Given the description of an element on the screen output the (x, y) to click on. 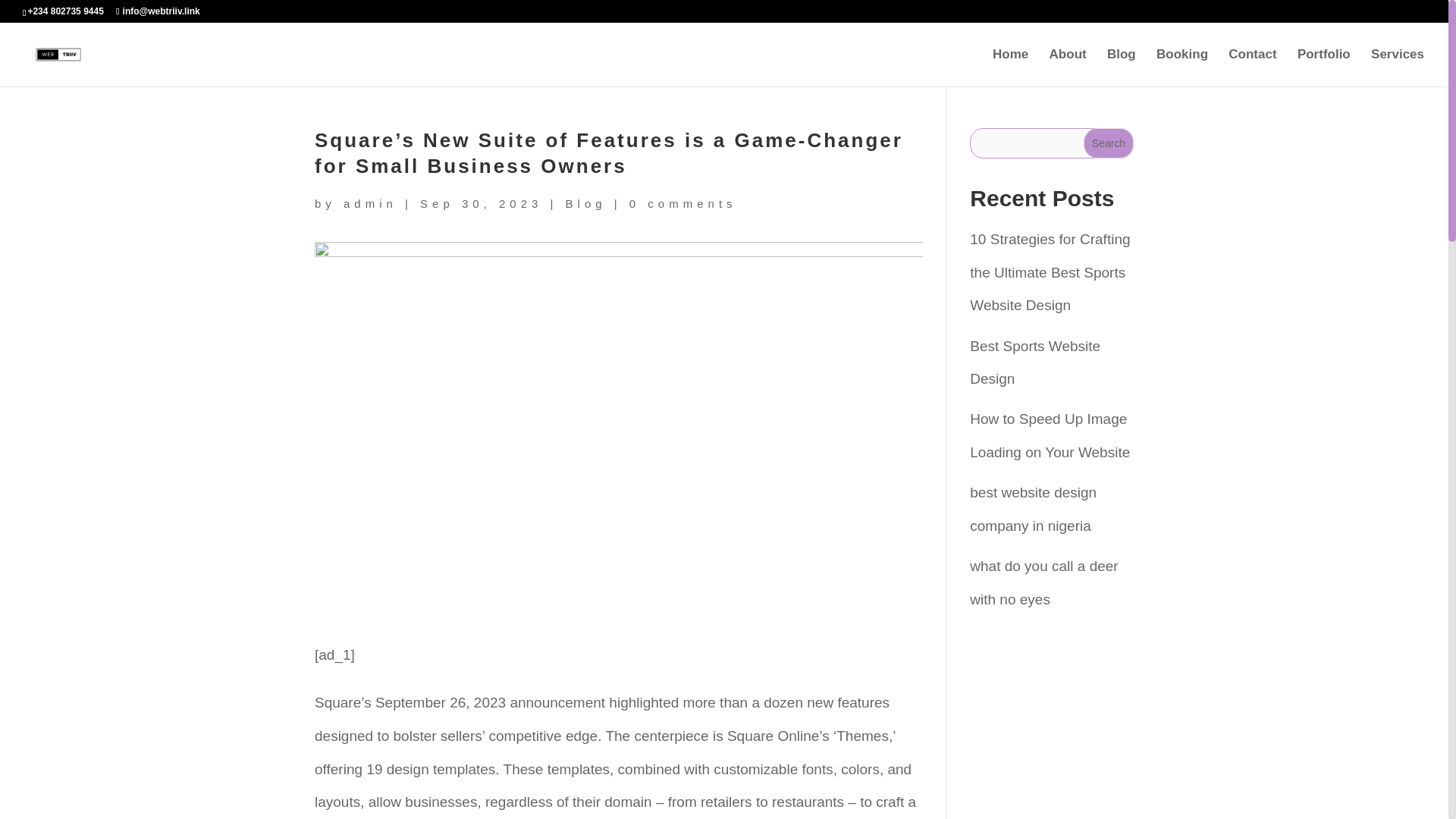
Search (1108, 142)
Blog (586, 203)
Home (1009, 67)
admin (370, 203)
Booking (1182, 67)
Contact (1252, 67)
Services (1397, 67)
best website design company in nigeria (1032, 508)
0 comments (682, 203)
